Given the description of an element on the screen output the (x, y) to click on. 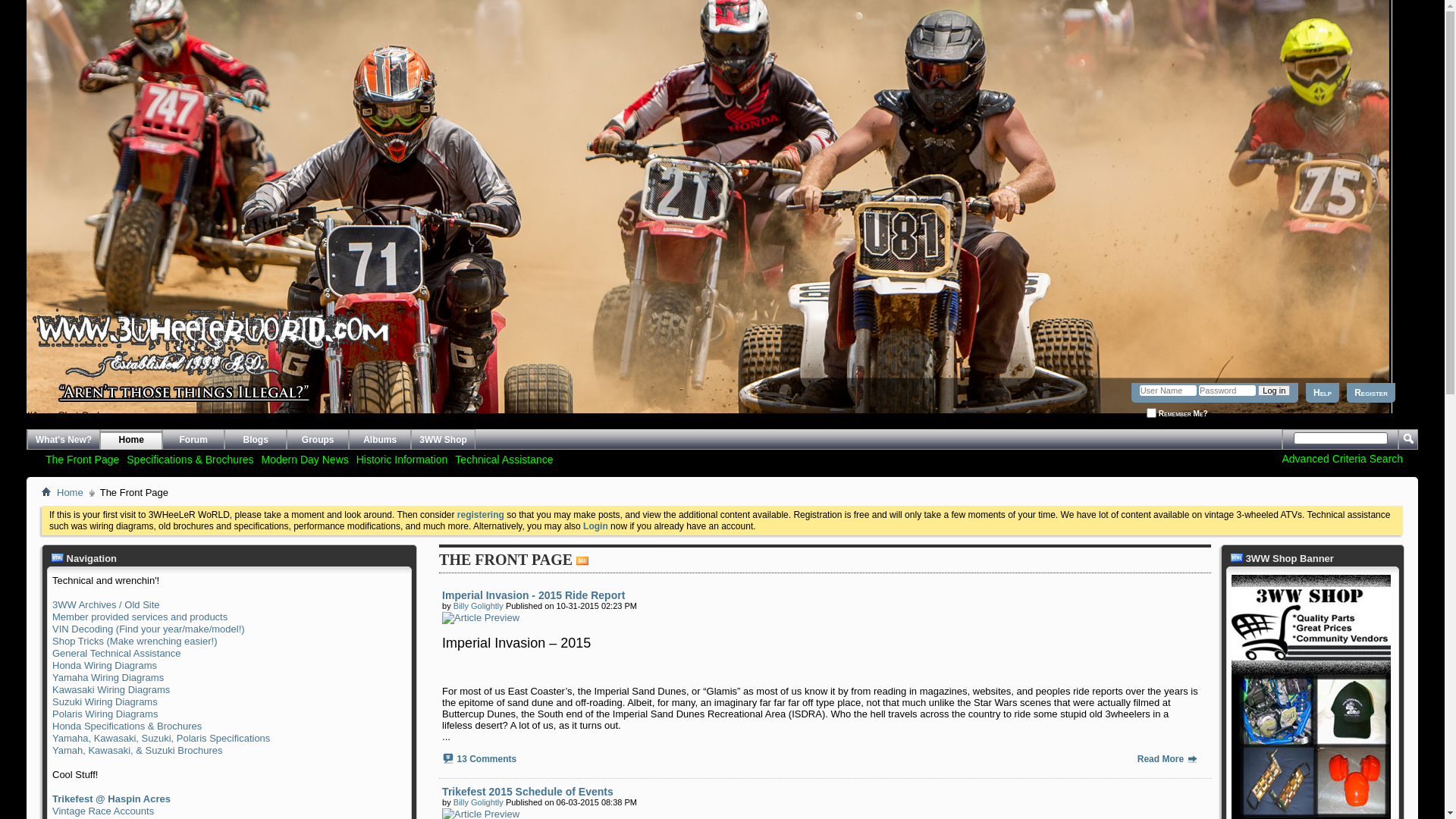
General Technical Assistance Element type: text (116, 652)
Honda Specifications & Brochures Element type: text (126, 725)
Yamaha, Kawasaki, Suzuki, Polaris Specifications Element type: text (160, 737)
Suzuki Wiring Diagrams Element type: text (104, 701)
Trikefest 2015 Schedule of Events Element type: text (527, 791)
Forum Element type: text (192, 439)
Home Element type: text (130, 439)
Yamah, Kawasaki, & Suzuki Brochures Element type: text (137, 750)
Shop Tricks (Make wrenching easier!) Element type: text (134, 640)
Modern Day News Element type: text (304, 459)
VIN Decoding (Find your year/make/model!) Element type: text (148, 628)
Technical Assistance Element type: text (503, 459)
Home Element type: text (70, 492)
Specifications & Brochures Element type: text (189, 459)
Log in Element type: text (1273, 390)
Register Element type: text (1370, 392)
Trikefest @ Haspin Acres Element type: text (111, 798)
Article Preview Element type: hover (480, 617)
Imperial Invasion - 2015 Ride Report Element type: text (533, 595)
Blogs Element type: text (254, 439)
3WW Archives / Old Site Element type: text (106, 604)
Polaris Wiring Diagrams Element type: text (104, 713)
Member provided services and products Element type: text (139, 616)
Groups Element type: text (317, 439)
Read More Element type: text (1167, 758)
Home Element type: hover (45, 490)
RSS Feed Element type: hover (582, 560)
Albums Element type: text (379, 439)
Login Element type: text (595, 525)
Vintage Race Accounts Element type: text (102, 810)
The Front Page Element type: text (81, 459)
Help Element type: text (1322, 392)
Billy Golightly Element type: text (478, 605)
Billy Golightly Element type: text (478, 801)
Historic Information Element type: text (401, 459)
3WW Shop Element type: text (442, 439)
Advanced Criteria Search Element type: text (1341, 458)
What's New? Element type: text (63, 439)
registering Element type: text (480, 514)
Read More Element type: hover (1192, 757)
3WHeeLeR WoRLD - Powered by vBulletin Element type: hover (26, 382)
13 Comments Element type: text (486, 758)
Honda Wiring Diagrams Element type: text (104, 665)
Yamaha Wiring Diagrams Element type: text (107, 677)
Kawasaki Wiring Diagrams Element type: text (110, 689)
